Given the description of an element on the screen output the (x, y) to click on. 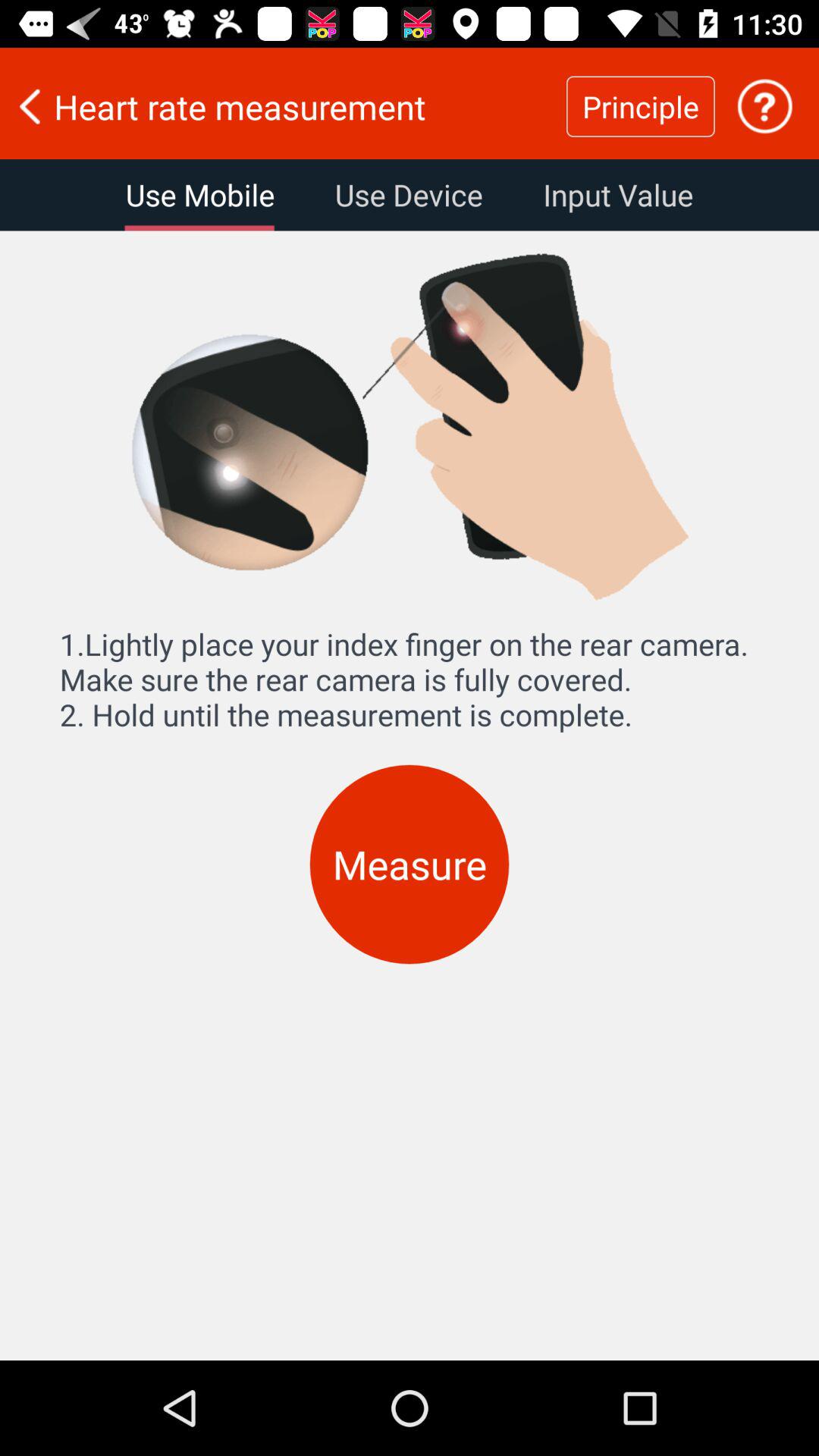
turn off item to the left of use device (199, 194)
